Given the description of an element on the screen output the (x, y) to click on. 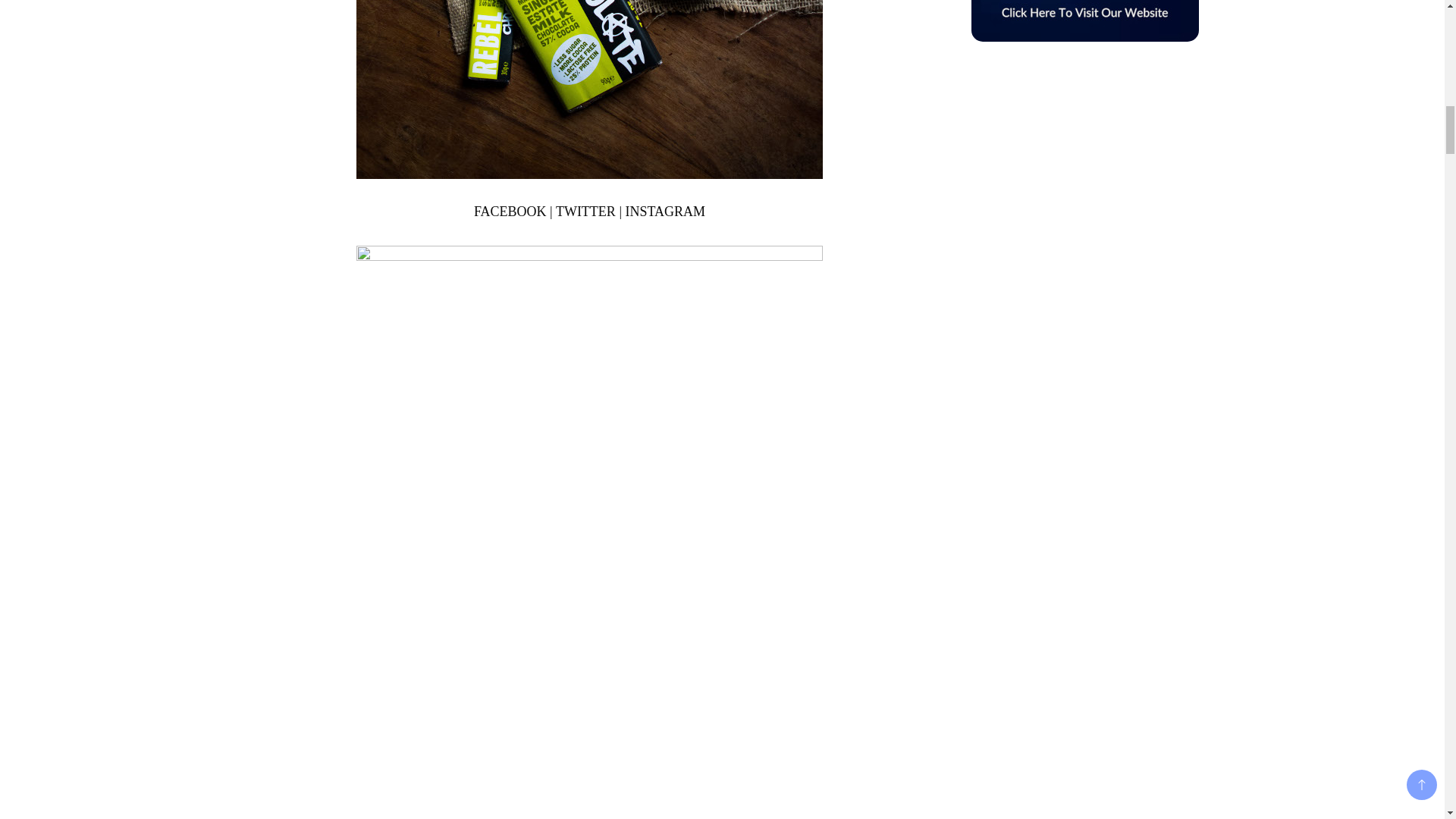
TWITTER (585, 211)
INSTAGRAM (664, 211)
FACEBOOK (510, 211)
